Given the description of an element on the screen output the (x, y) to click on. 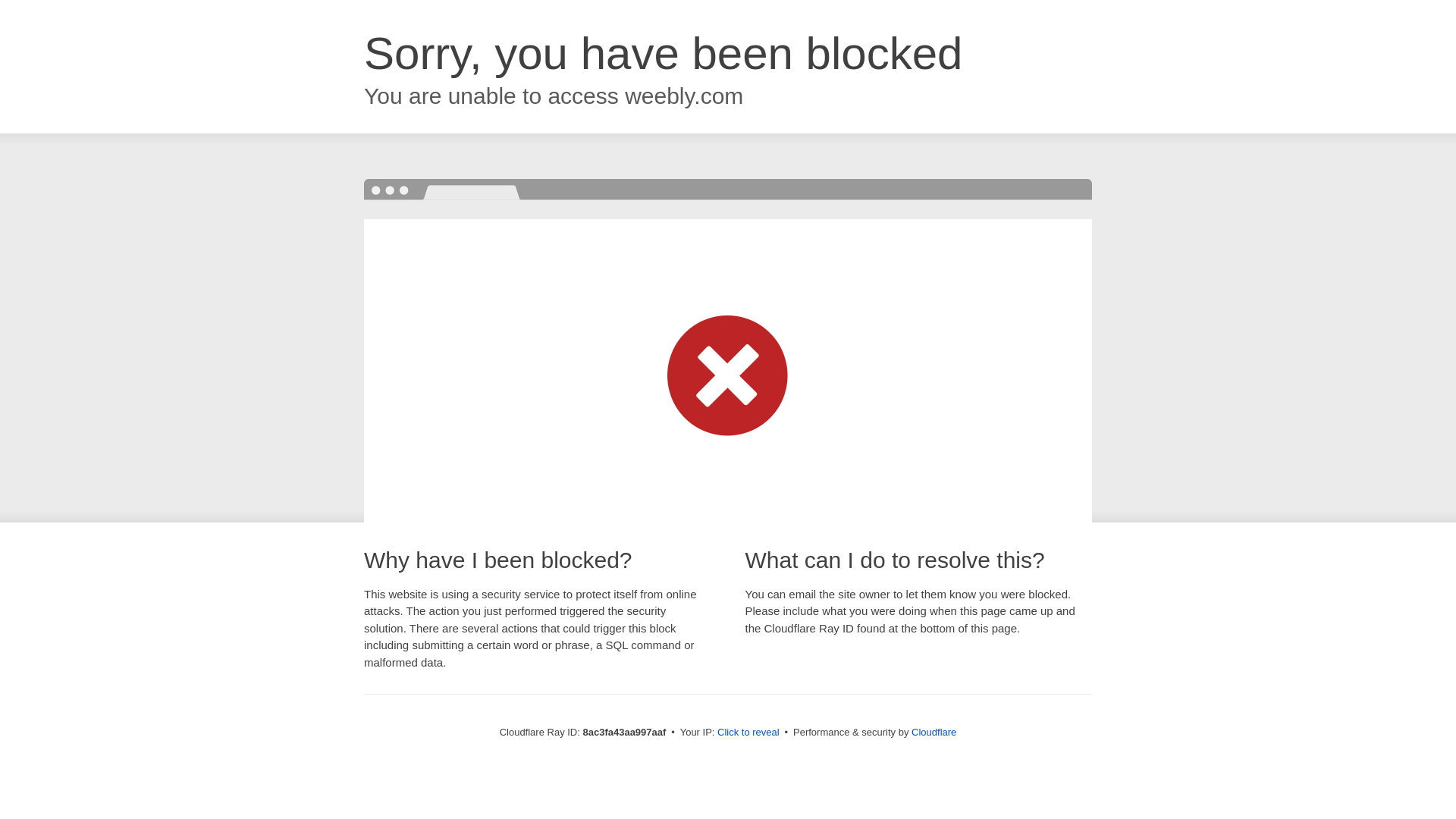
Click to reveal (747, 732)
Cloudflare (933, 731)
